Given the description of an element on the screen output the (x, y) to click on. 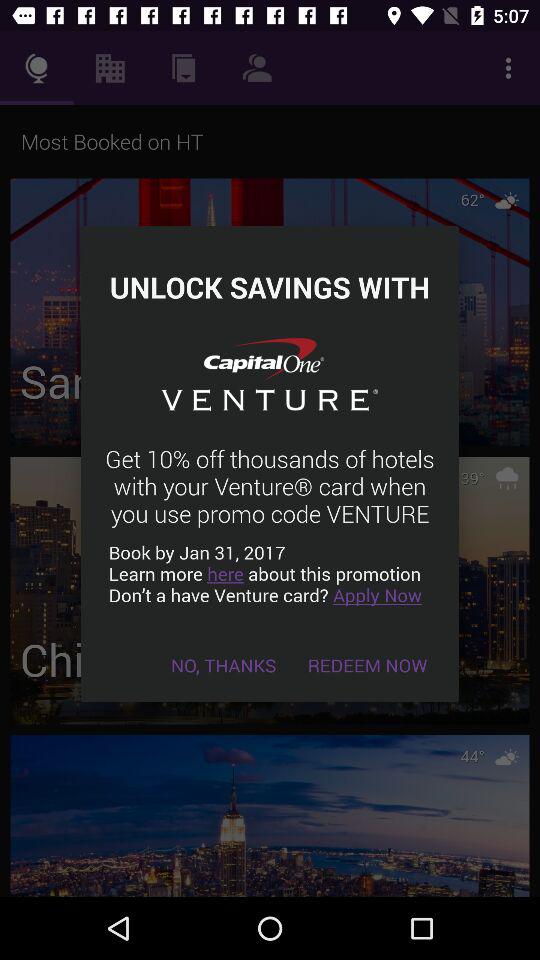
click the icon below book by jan icon (367, 664)
